Given the description of an element on the screen output the (x, y) to click on. 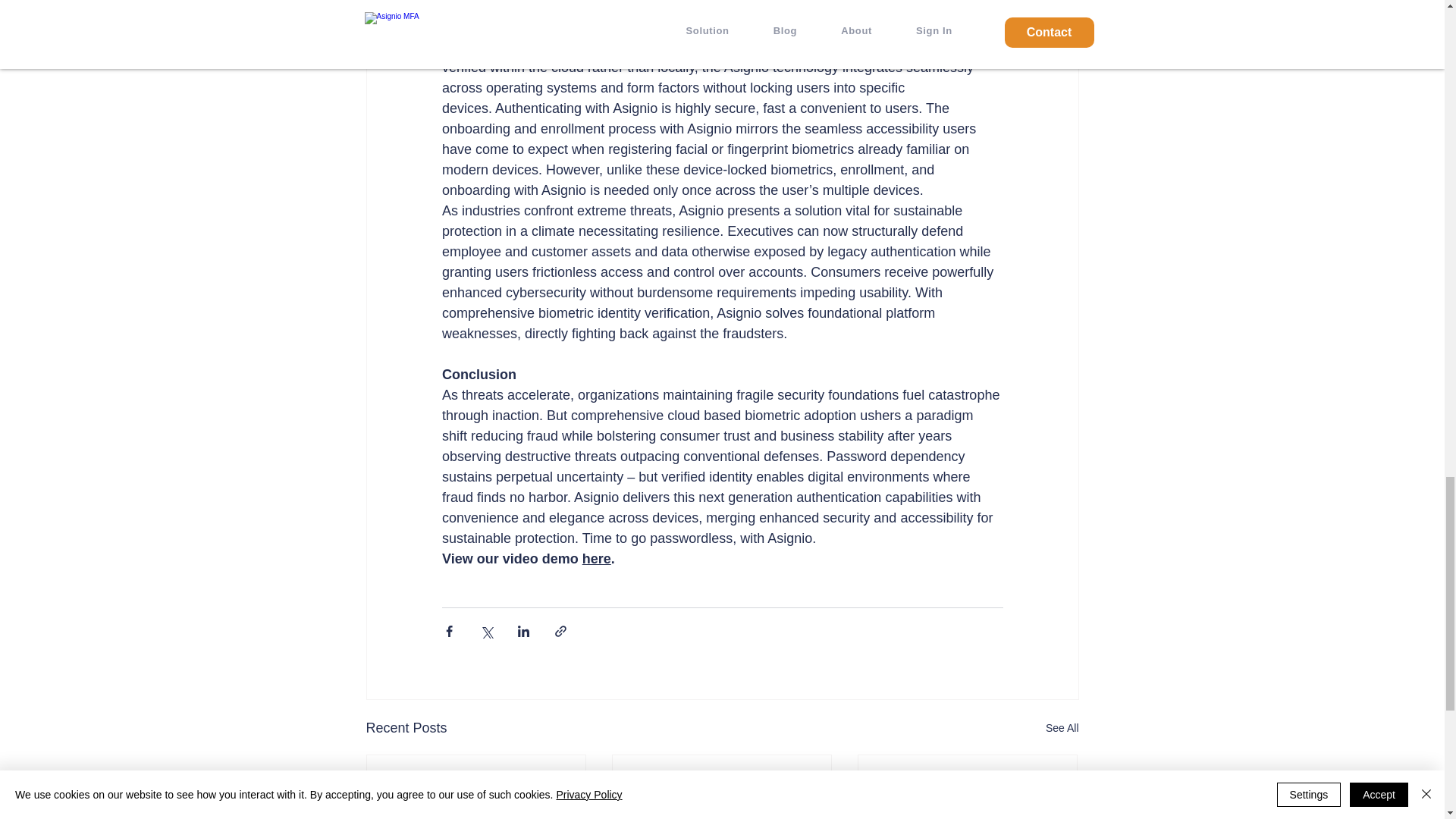
See All (1061, 728)
here (595, 558)
